Given the description of an element on the screen output the (x, y) to click on. 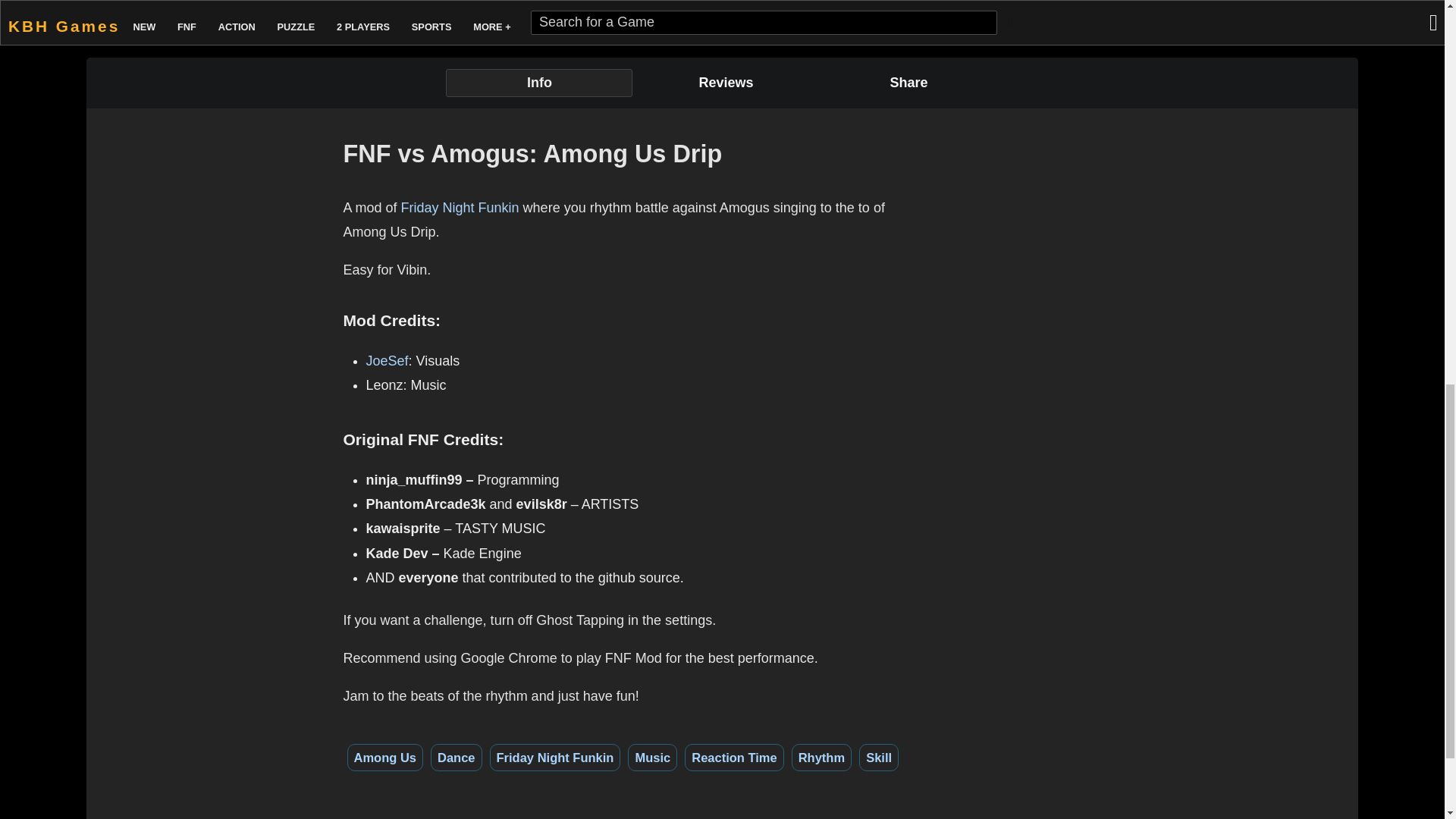
FNF VS Plant's Night Funkin Replanted (357, 7)
FNF VS Plant's Night Funkin Replanted (357, 11)
Friday Night Funkin' (191, 7)
Funkin' Peanuts vs Snoopy (1026, 7)
FNF Electrified But Everyone Sings It (1192, 7)
FNF Vs Amogus Imposter (692, 7)
FNF Genocide, but Everyone Sings it (1359, 7)
Friday Night Funkin' (191, 11)
FNF Vs Void Polarity But Everyone Sings It (525, 7)
FNF Left Unlocked, but Everyone Sings It (858, 7)
